Given the description of an element on the screen output the (x, y) to click on. 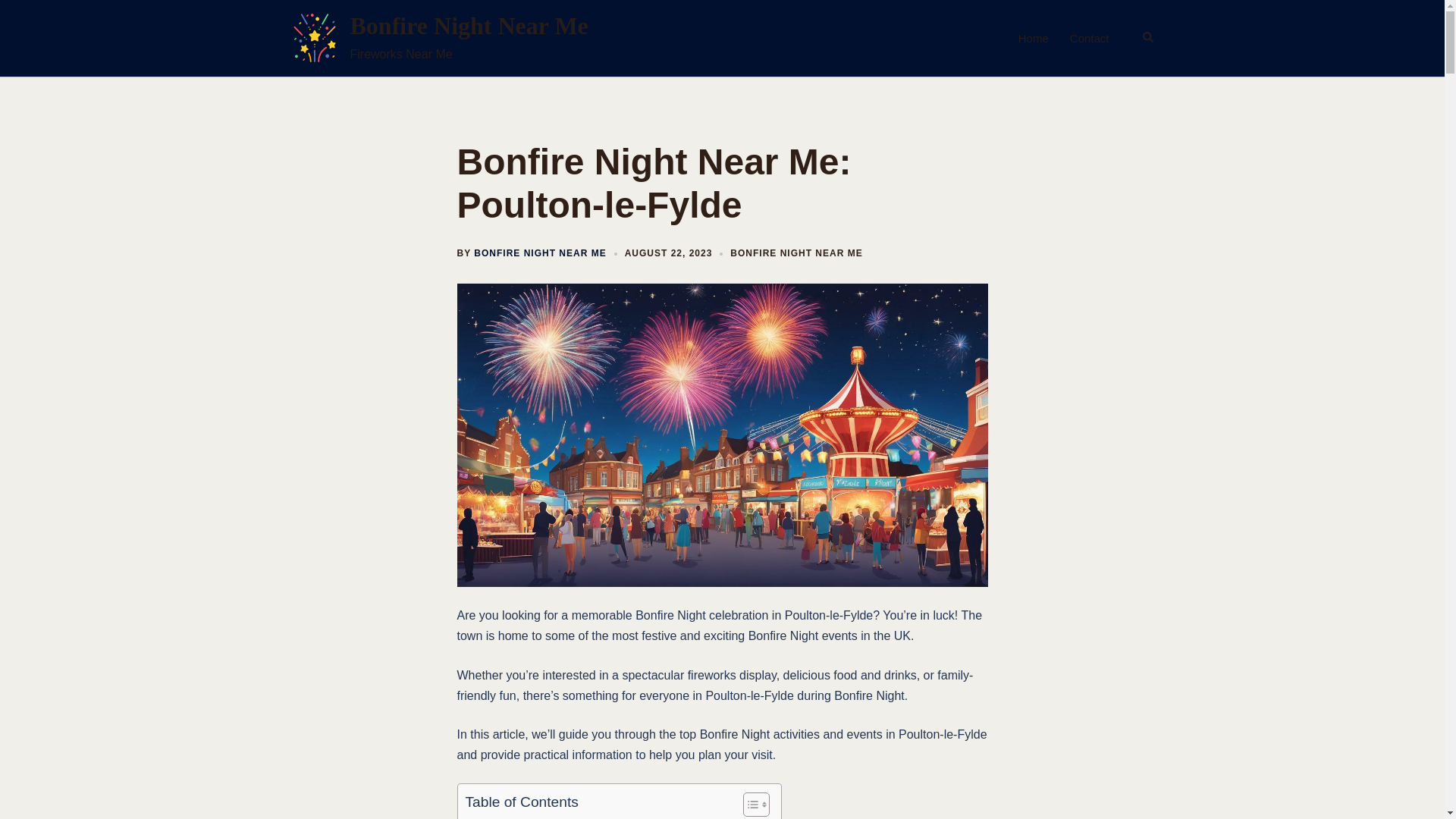
Search (1147, 37)
Home (1032, 38)
Contact (1089, 38)
BONFIRE NIGHT NEAR ME (539, 253)
AUGUST 22, 2023 (668, 253)
Bonfire Night Near Me (469, 25)
BONFIRE NIGHT NEAR ME (795, 253)
Bonfire Night Near Me (313, 37)
